Given the description of an element on the screen output the (x, y) to click on. 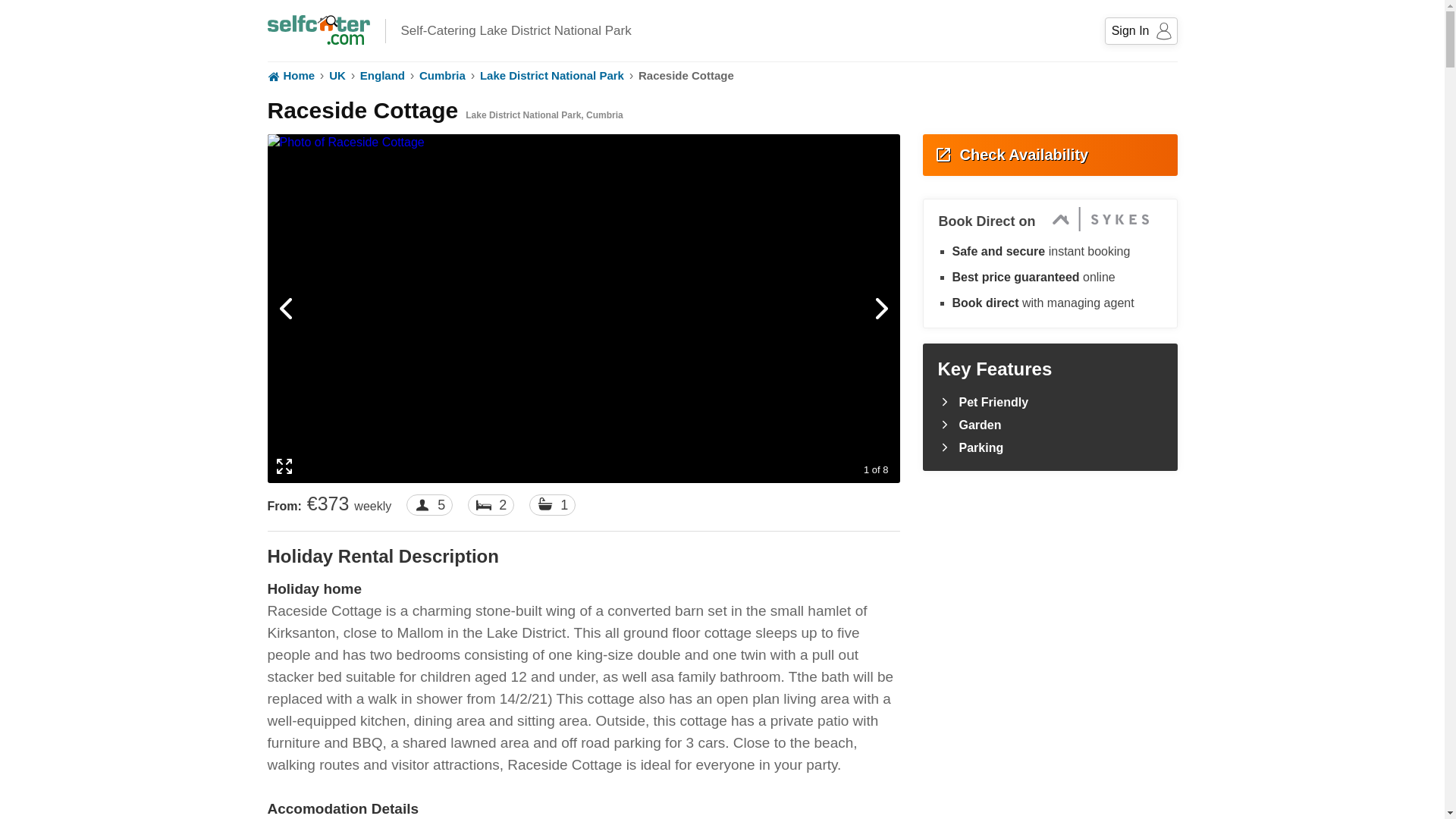
Check Availability (1048, 155)
Lake District National Park (552, 75)
Holiday Rentals Home (290, 75)
Holiday Rentals England (381, 75)
Holiday Rentals Cumbria (442, 75)
UK (337, 75)
Holiday Rentals Lake District National Park (552, 75)
Holiday Rentals United Kingdom (337, 75)
Cumbria (442, 75)
Self Catering Holiday Cottages (317, 25)
England (381, 75)
Sign In (1141, 31)
Home (290, 75)
